Given the description of an element on the screen output the (x, y) to click on. 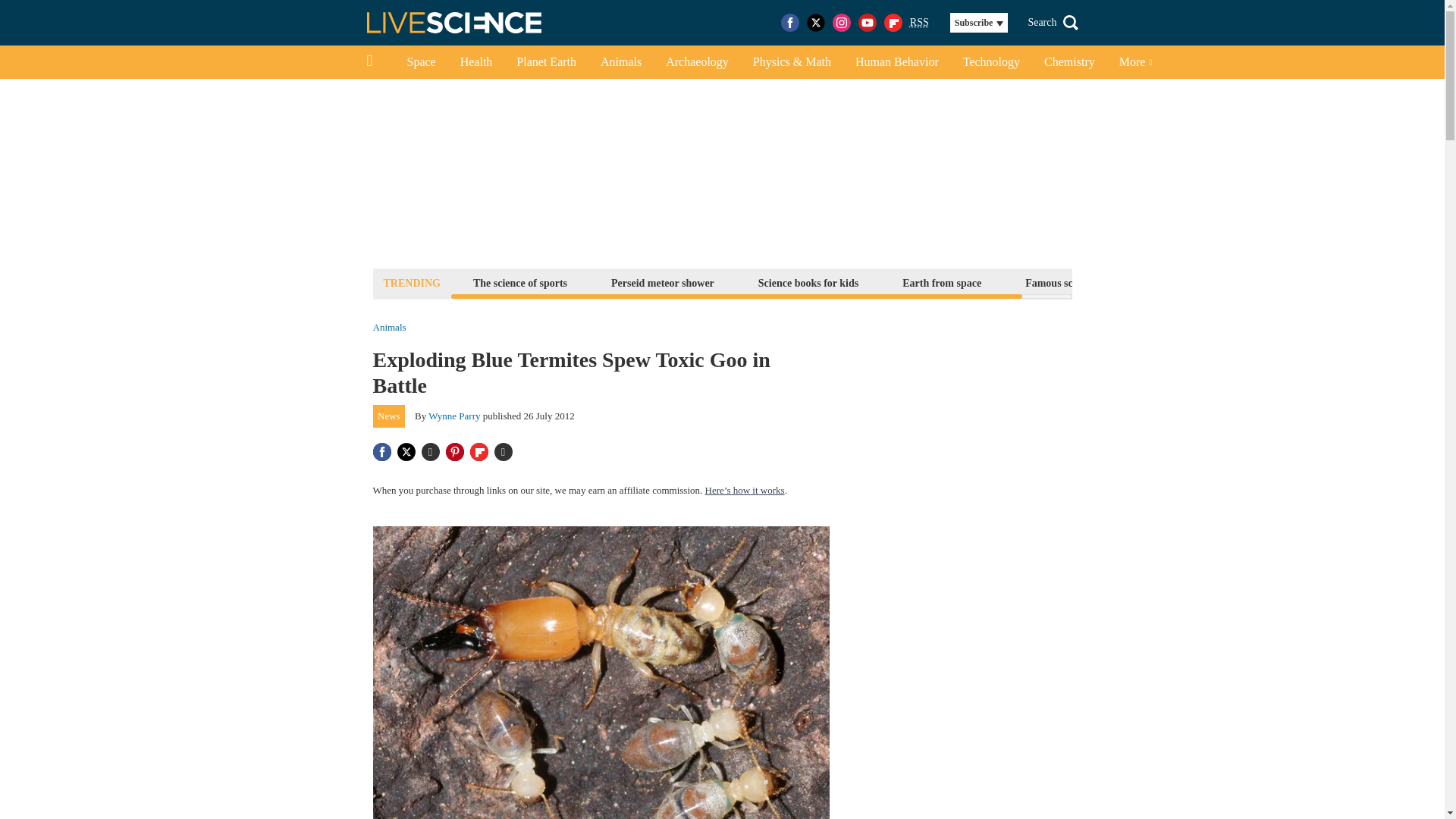
Wynne Parry (454, 415)
Health (476, 61)
Famous scientists (1064, 282)
Earth from space (941, 282)
Animals (389, 327)
Space (420, 61)
Planet Earth (545, 61)
Human Behavior (896, 61)
Technology (991, 61)
RSS (919, 22)
